Given the description of an element on the screen output the (x, y) to click on. 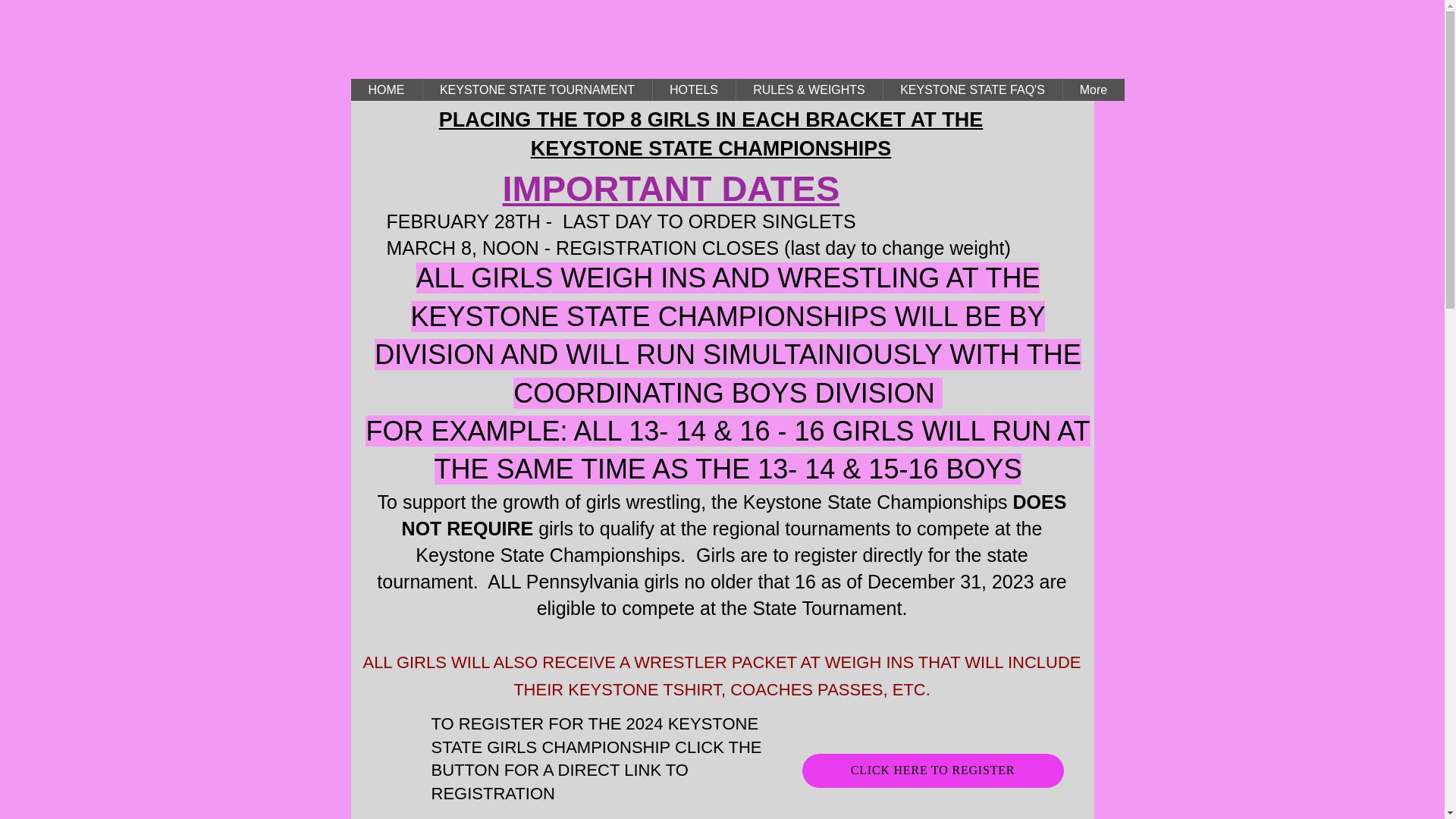
KEYSTONE STATE TOURNAMENT (536, 89)
CLICK HERE TO REGISTER (933, 770)
HOTELS (693, 89)
HOME (386, 89)
KEYSTONE STATE FAQ'S (972, 89)
